Given the description of an element on the screen output the (x, y) to click on. 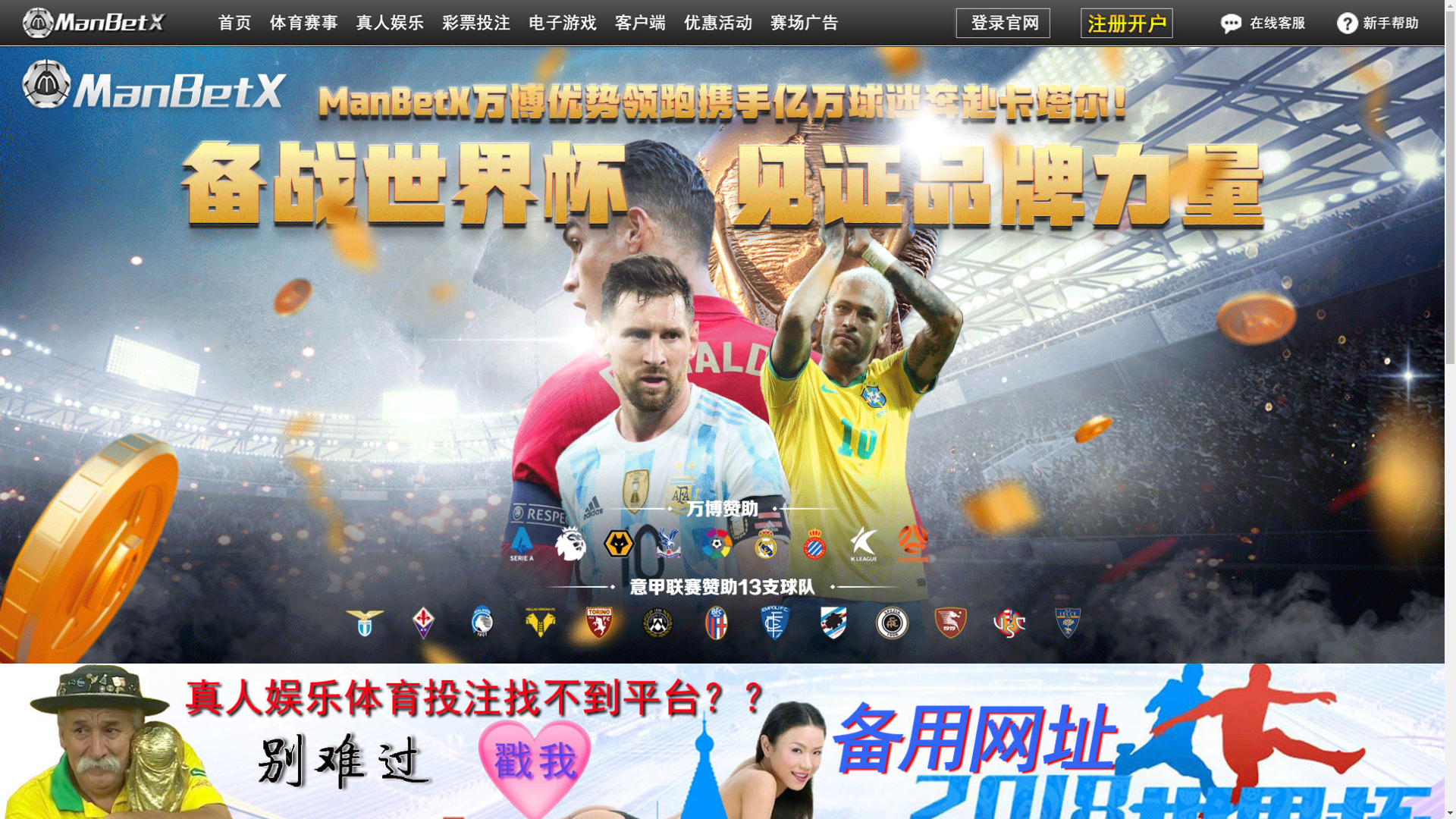
Search Element type: text (1122, 45)
1x1labs.com
1x1labs.com Element type: text (488, 202)
Next Post
Next Element type: text (827, 500)
Previous Post
Previous Element type: text (351, 500)
